Given the description of an element on the screen output the (x, y) to click on. 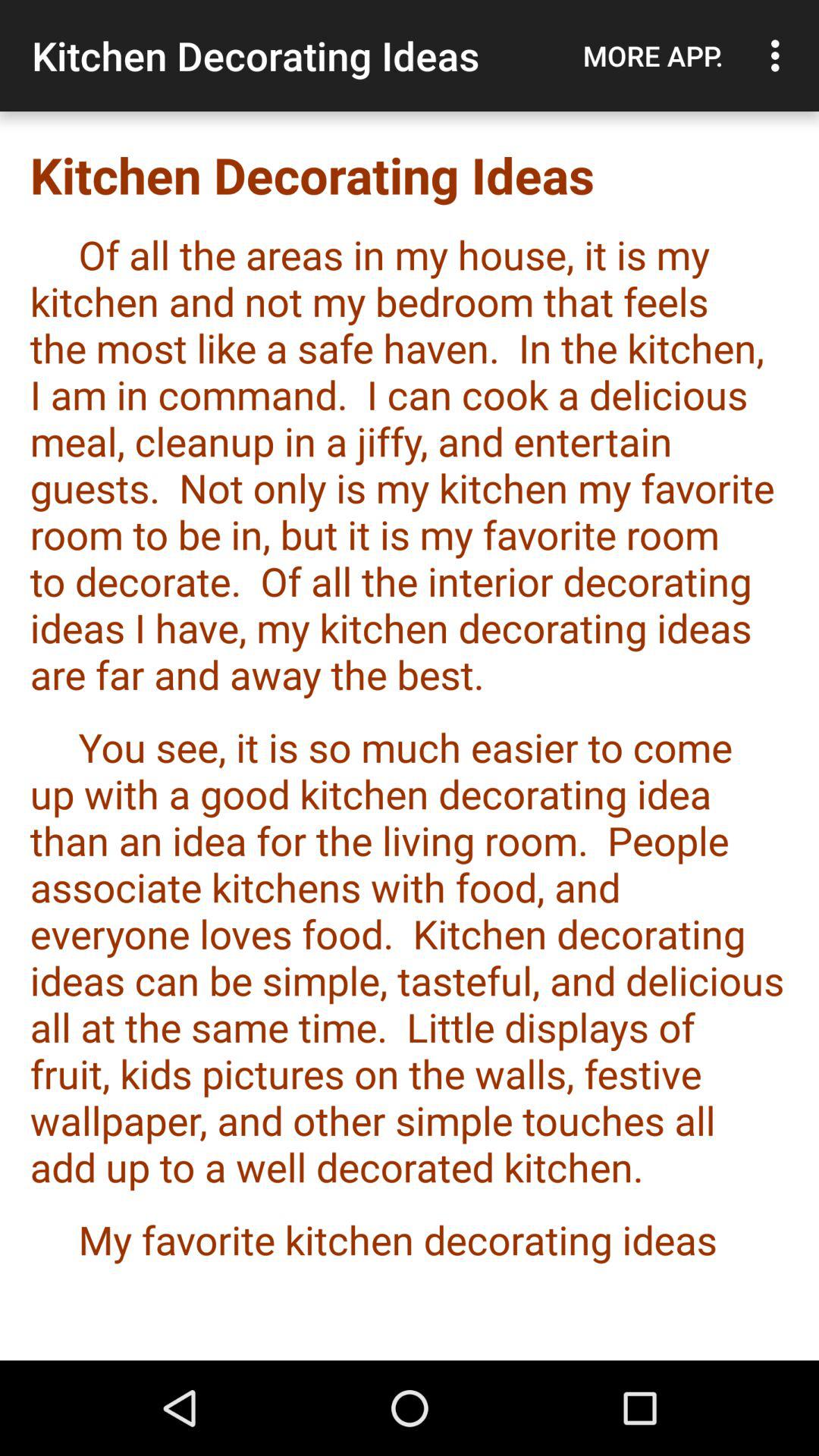
tap item next to the kitchen decorating ideas item (653, 55)
